Given the description of an element on the screen output the (x, y) to click on. 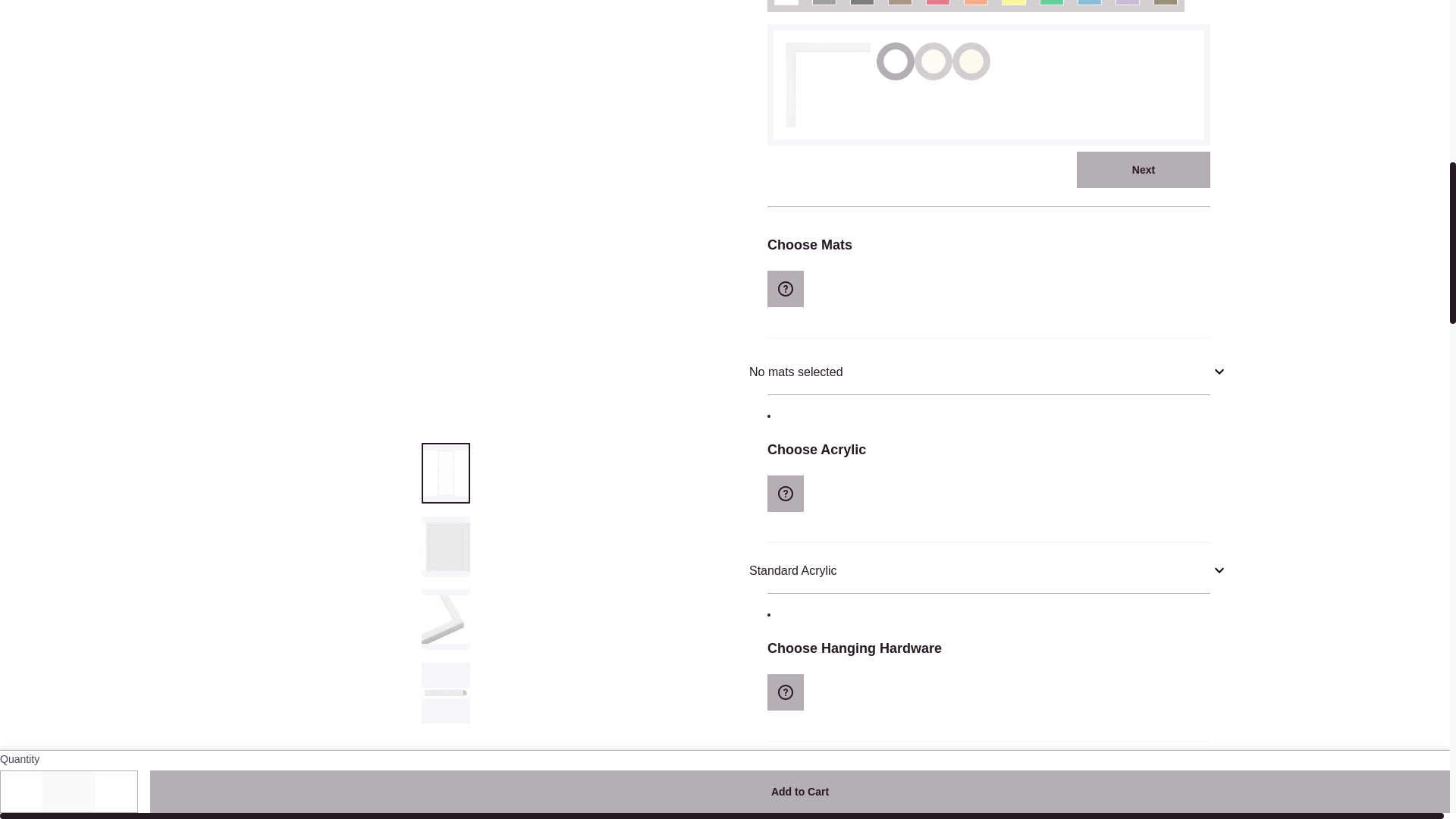
Grey (824, 6)
Black (861, 6)
White (786, 6)
Orange (975, 6)
Yellow (1013, 6)
Brown (899, 6)
Red (937, 6)
